Given the description of an element on the screen output the (x, y) to click on. 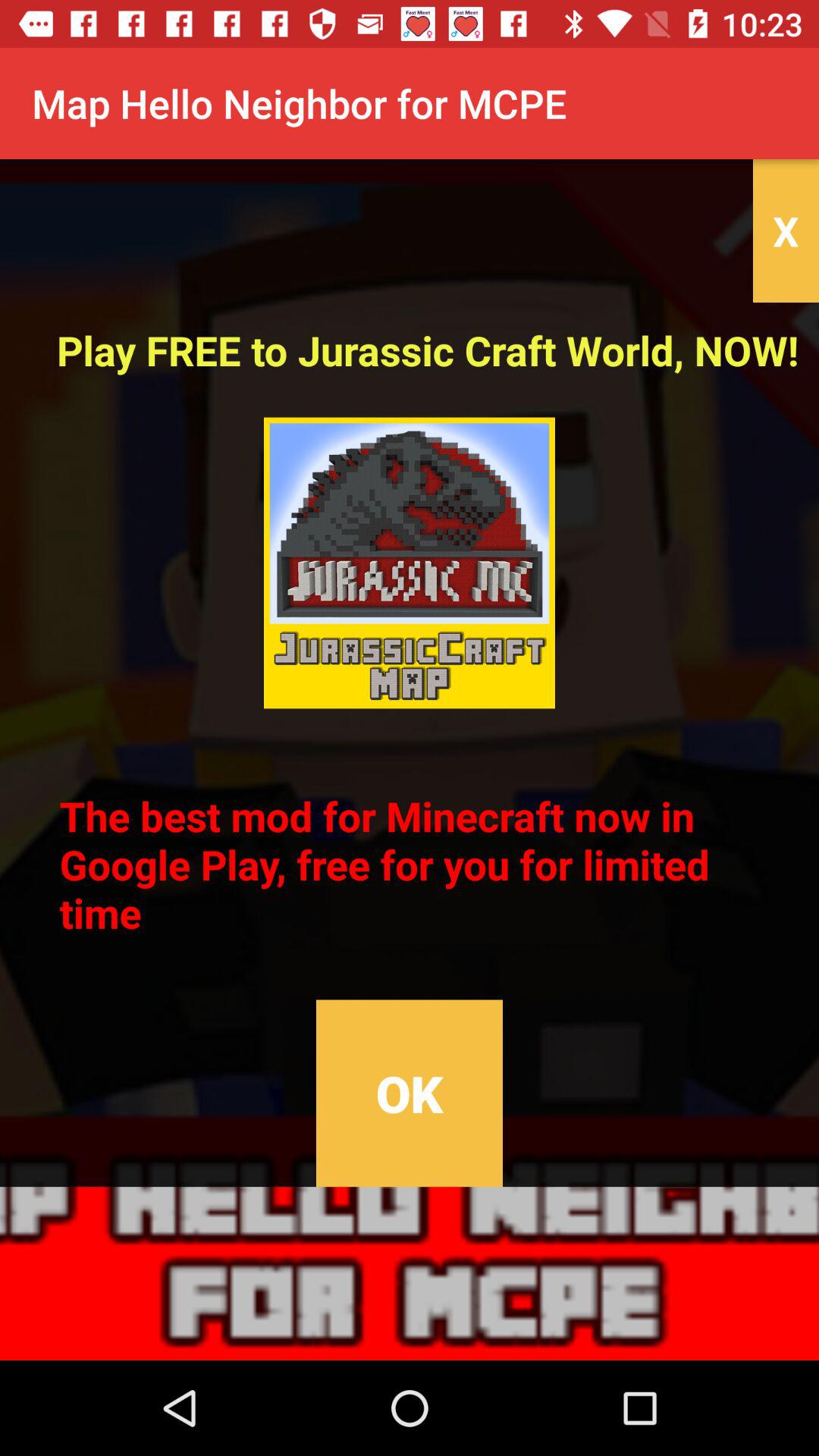
choose icon at the top right corner (786, 230)
